Given the description of an element on the screen output the (x, y) to click on. 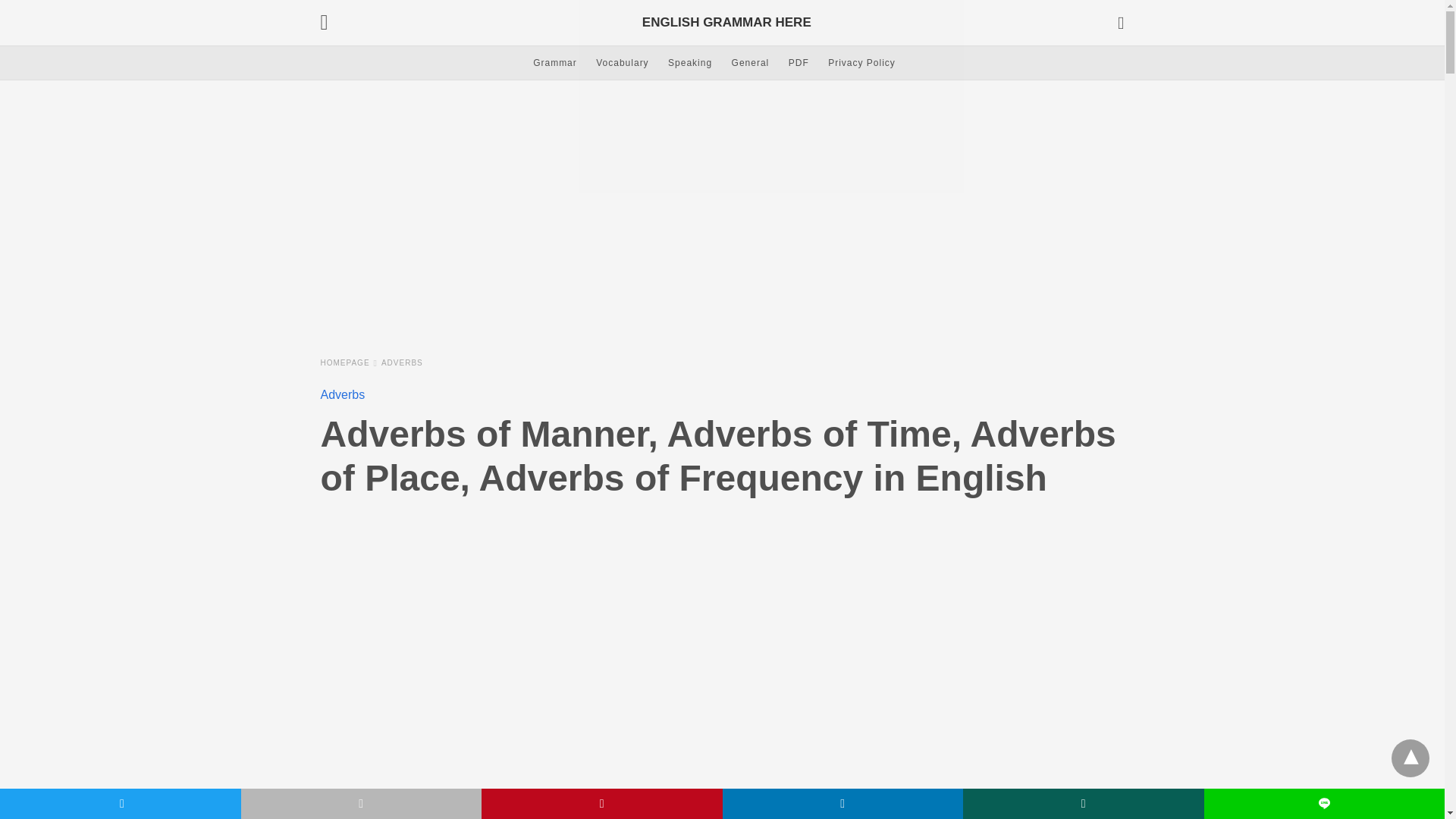
Adverbs (402, 362)
Adverbs (342, 394)
Homepage (348, 362)
